Given the description of an element on the screen output the (x, y) to click on. 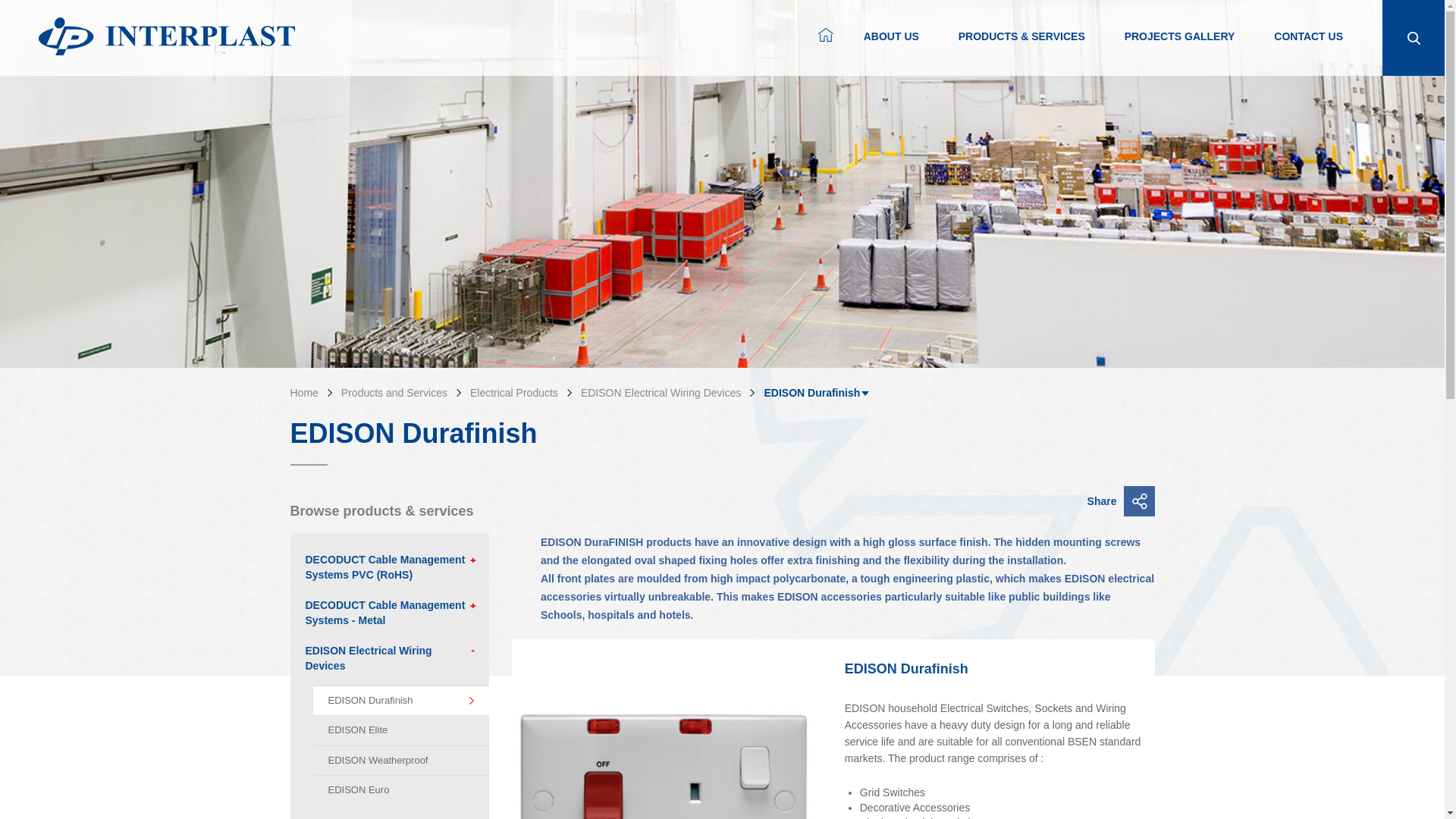
EDISON Electrical Wiring Devices (658, 392)
Home (303, 392)
EDISON Electrical Wiring Devices (658, 392)
Products and Services (391, 392)
Home (303, 392)
CONTACT US (1308, 48)
Electrical Products (510, 392)
PROJECTS GALLERY (1179, 48)
Products and Services (391, 392)
Electrical Products (510, 392)
ABOUT US (890, 48)
